Given the description of an element on the screen output the (x, y) to click on. 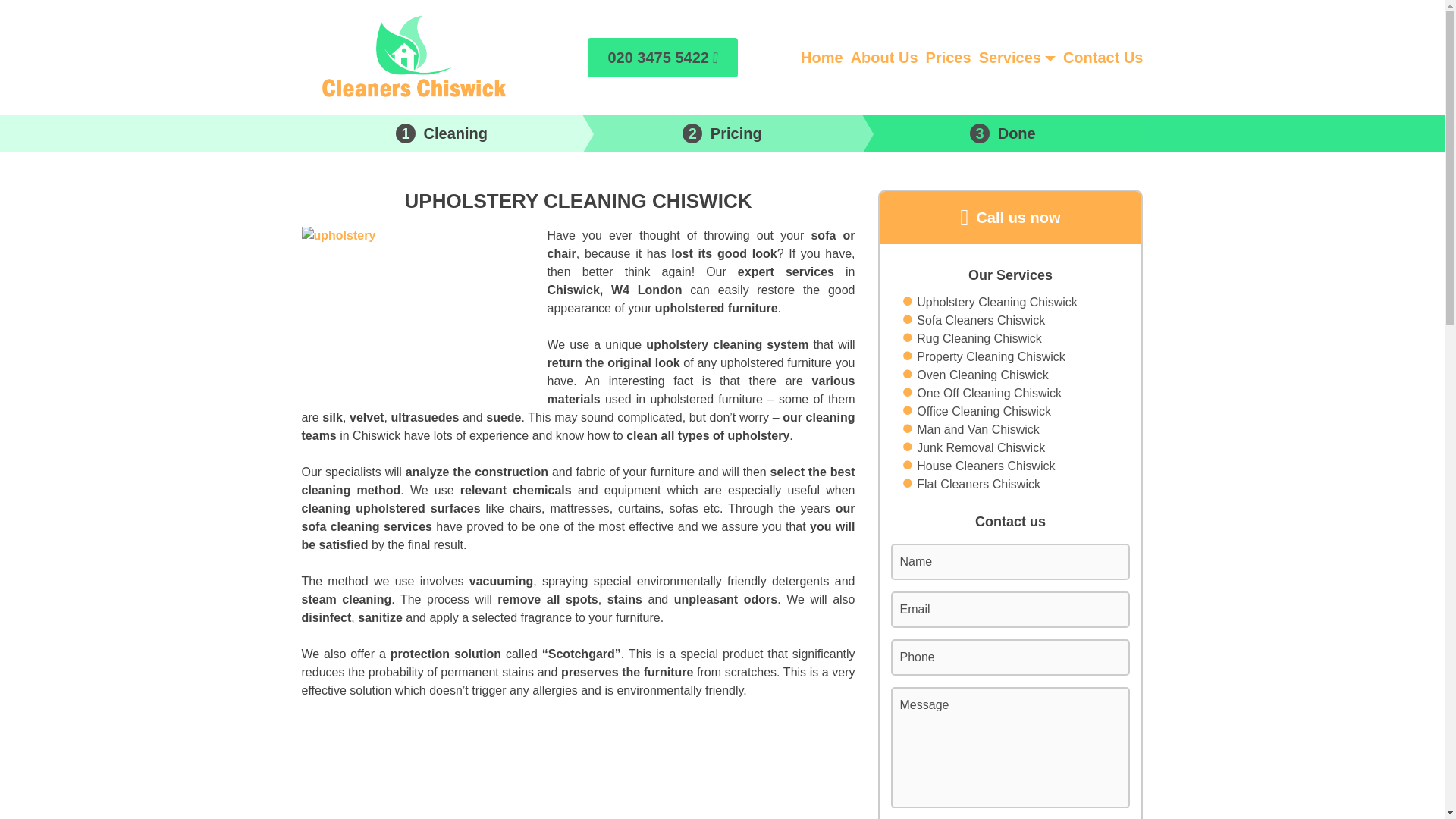
House Cleaners Chiswick (985, 466)
Property Cleaning Chiswick (991, 357)
Home (821, 56)
020 3475 5422 (663, 56)
Man and Van Chiswick (978, 429)
Contact Us (1102, 56)
Flat Cleaners Chiswick (979, 484)
Services (1009, 56)
One Off Cleaning Chiswick (989, 393)
Office Cleaning Chiswick (984, 411)
Call us now (1010, 217)
About Us (884, 56)
Upholstery Cleaning Chiswick (997, 302)
Rug Cleaning Chiswick (979, 339)
Oven Cleaning Chiswick (982, 375)
